Given the description of an element on the screen output the (x, y) to click on. 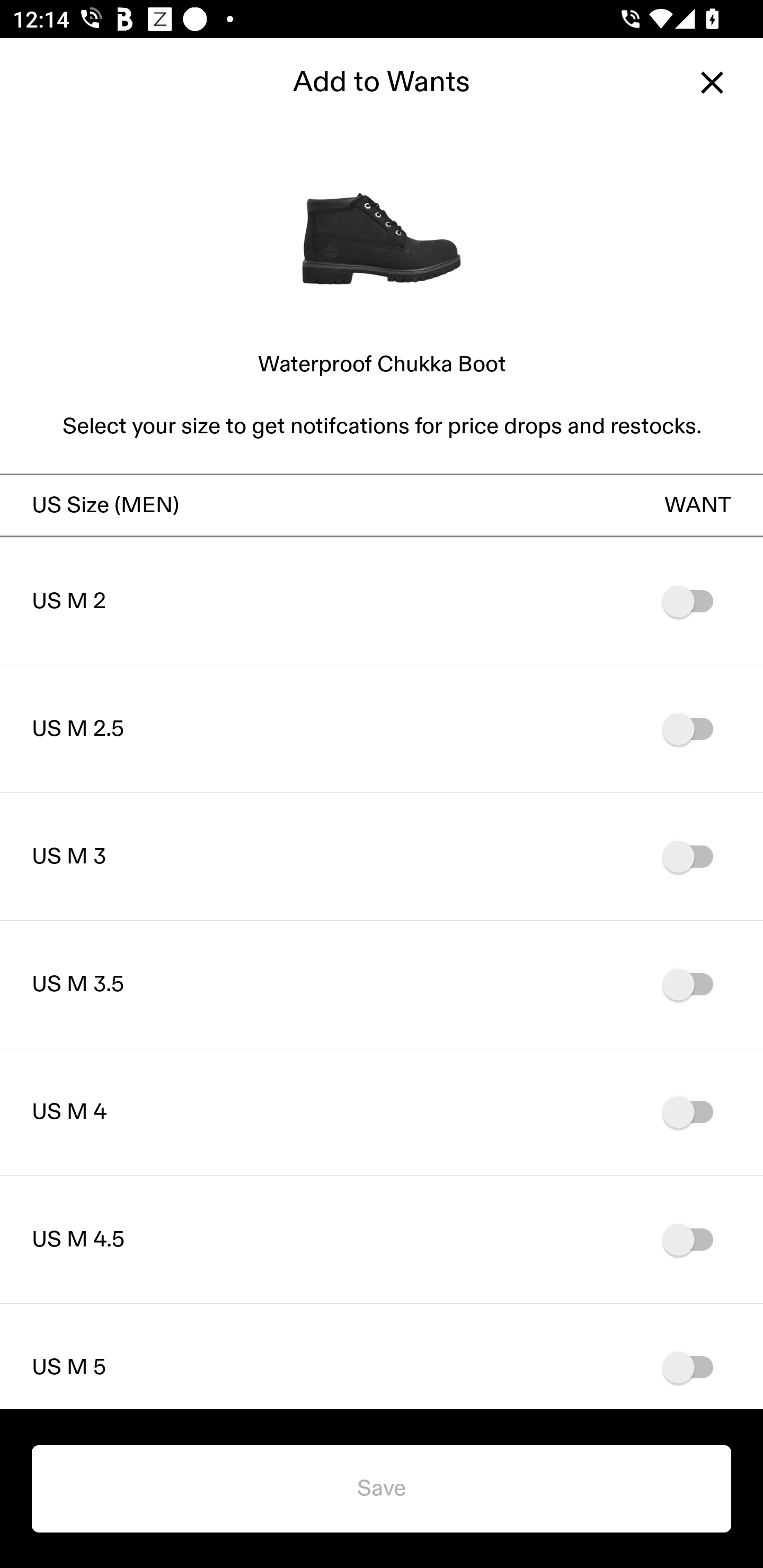
Save (381, 1488)
